Given the description of an element on the screen output the (x, y) to click on. 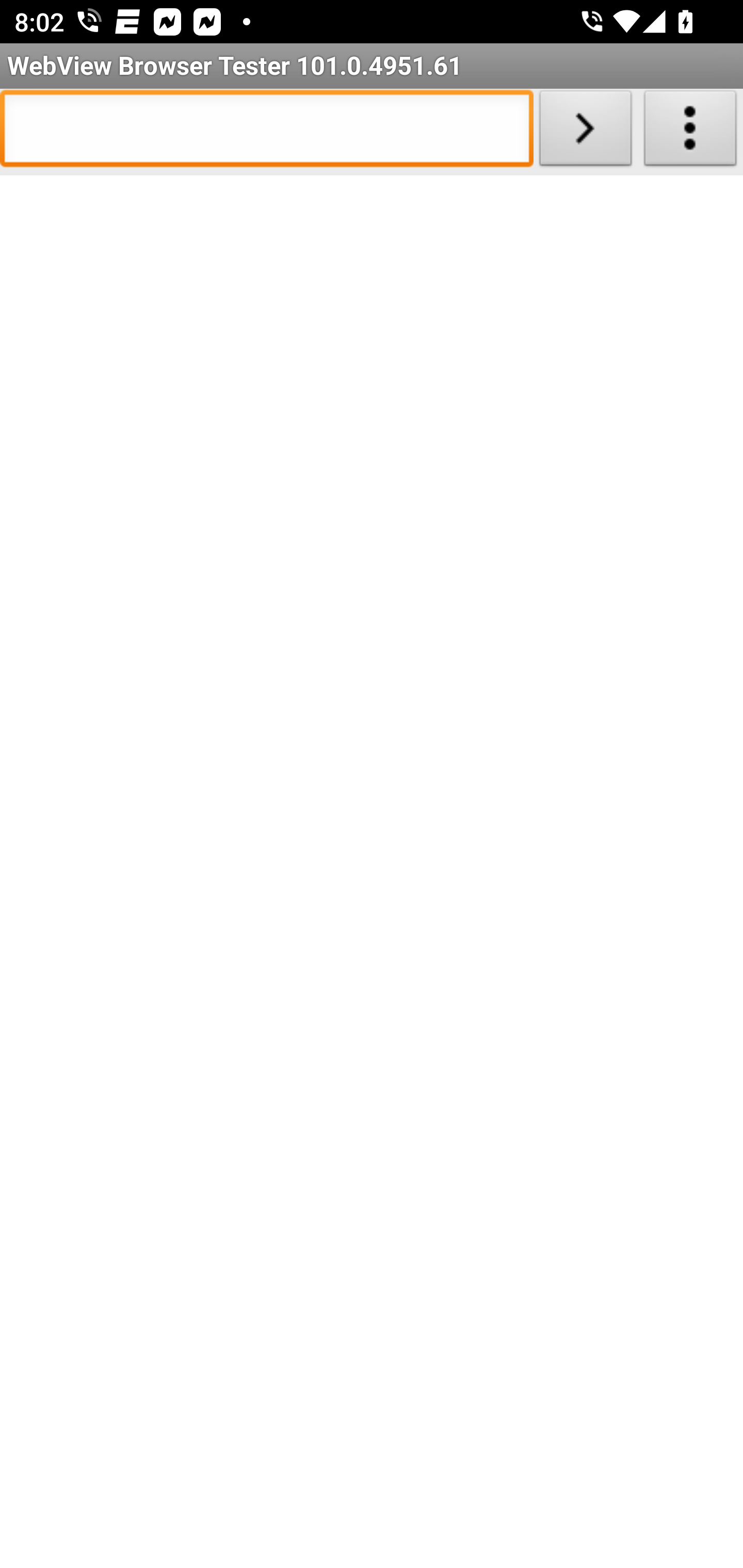
Load URL (585, 132)
About WebView (690, 132)
